Given the description of an element on the screen output the (x, y) to click on. 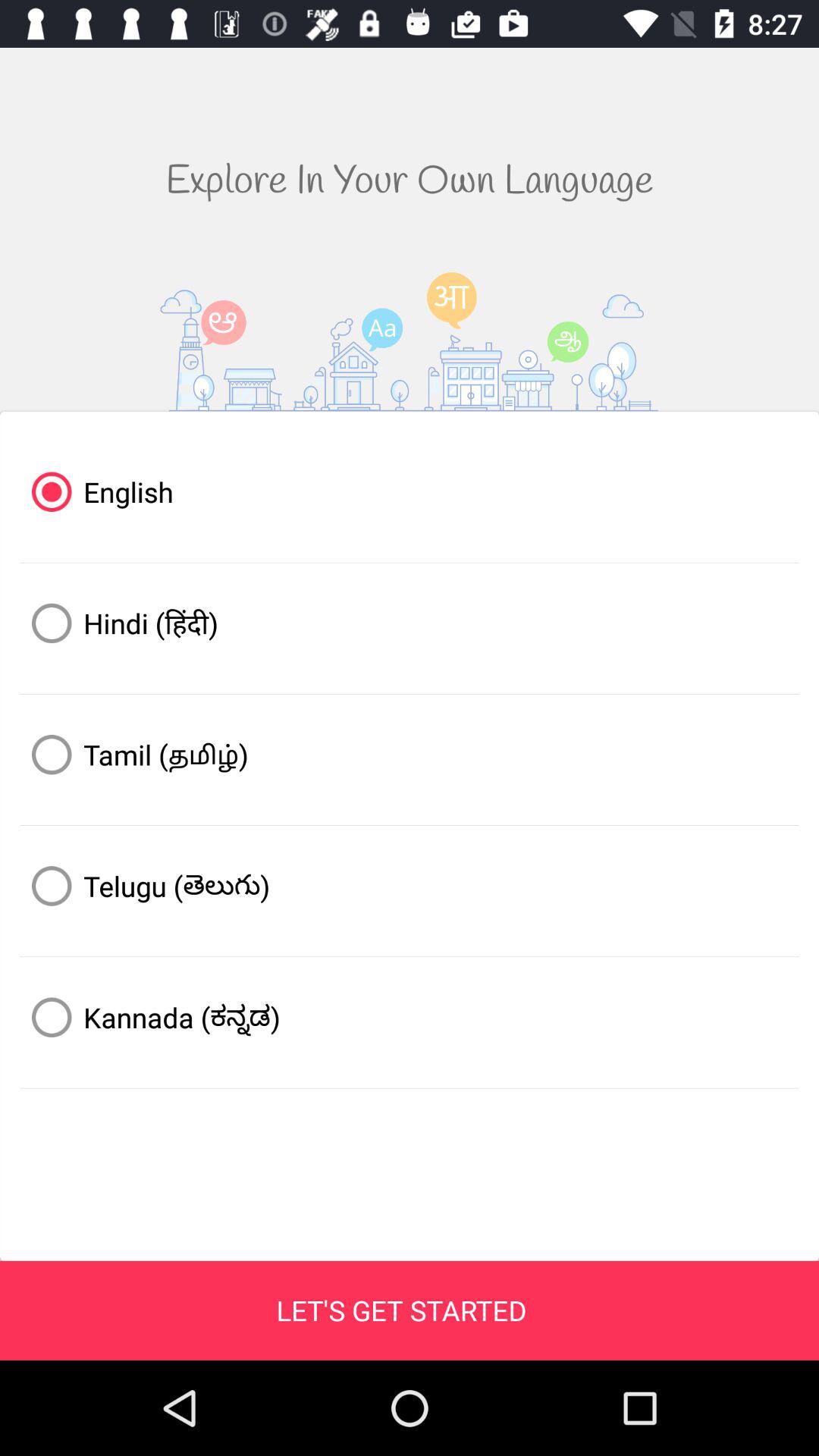
flip to let s get icon (401, 1310)
